Given the description of an element on the screen output the (x, y) to click on. 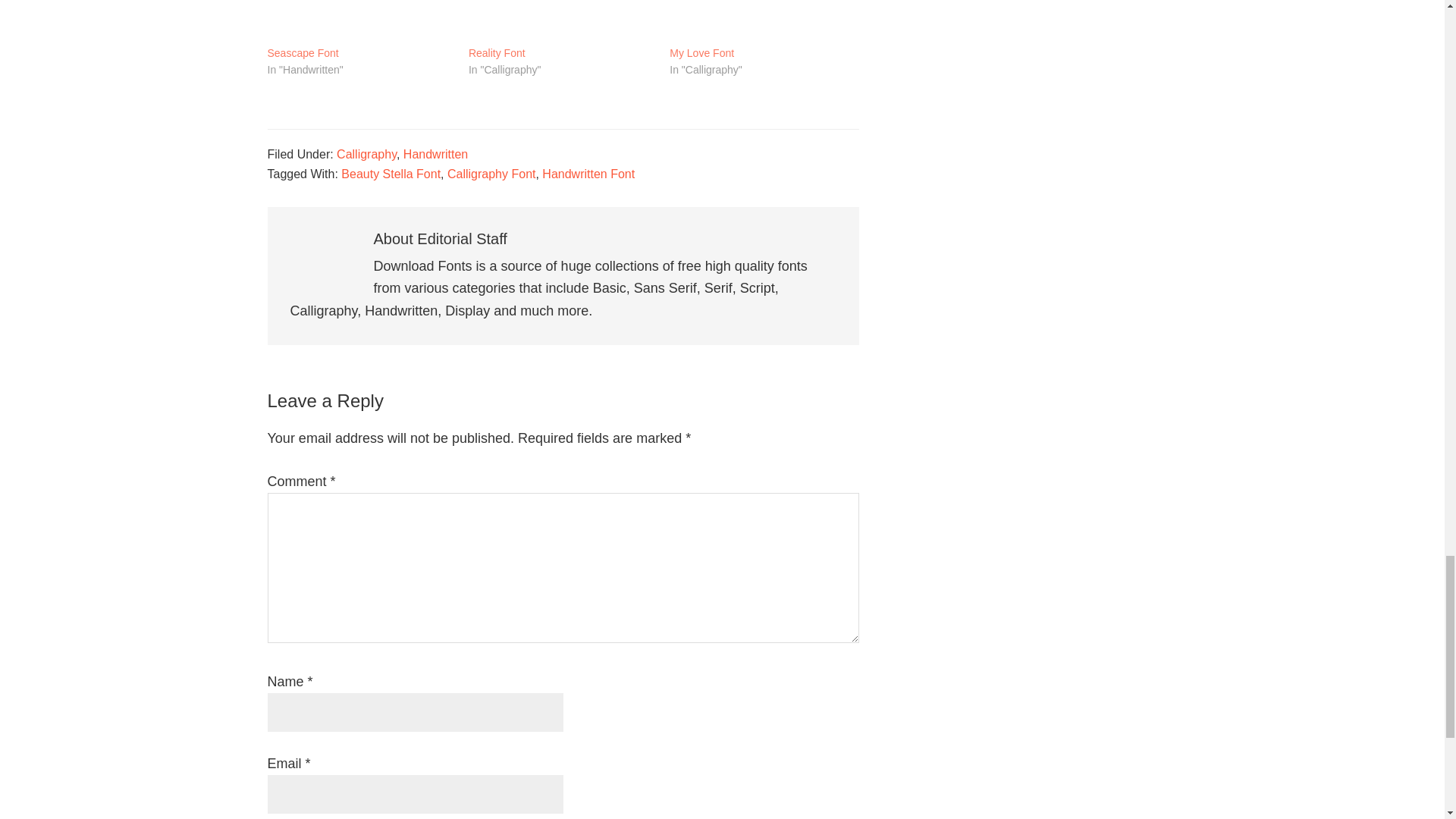
Seascape Font (359, 22)
My Love Font (762, 22)
Reality Font (496, 53)
My Love Font (701, 53)
Reality Font (560, 22)
Beauty Stella Font (390, 173)
Calligraphy Font (490, 173)
Seascape Font (301, 53)
Handwritten (435, 154)
Calligraphy (366, 154)
Handwritten Font (587, 173)
